Given the description of an element on the screen output the (x, y) to click on. 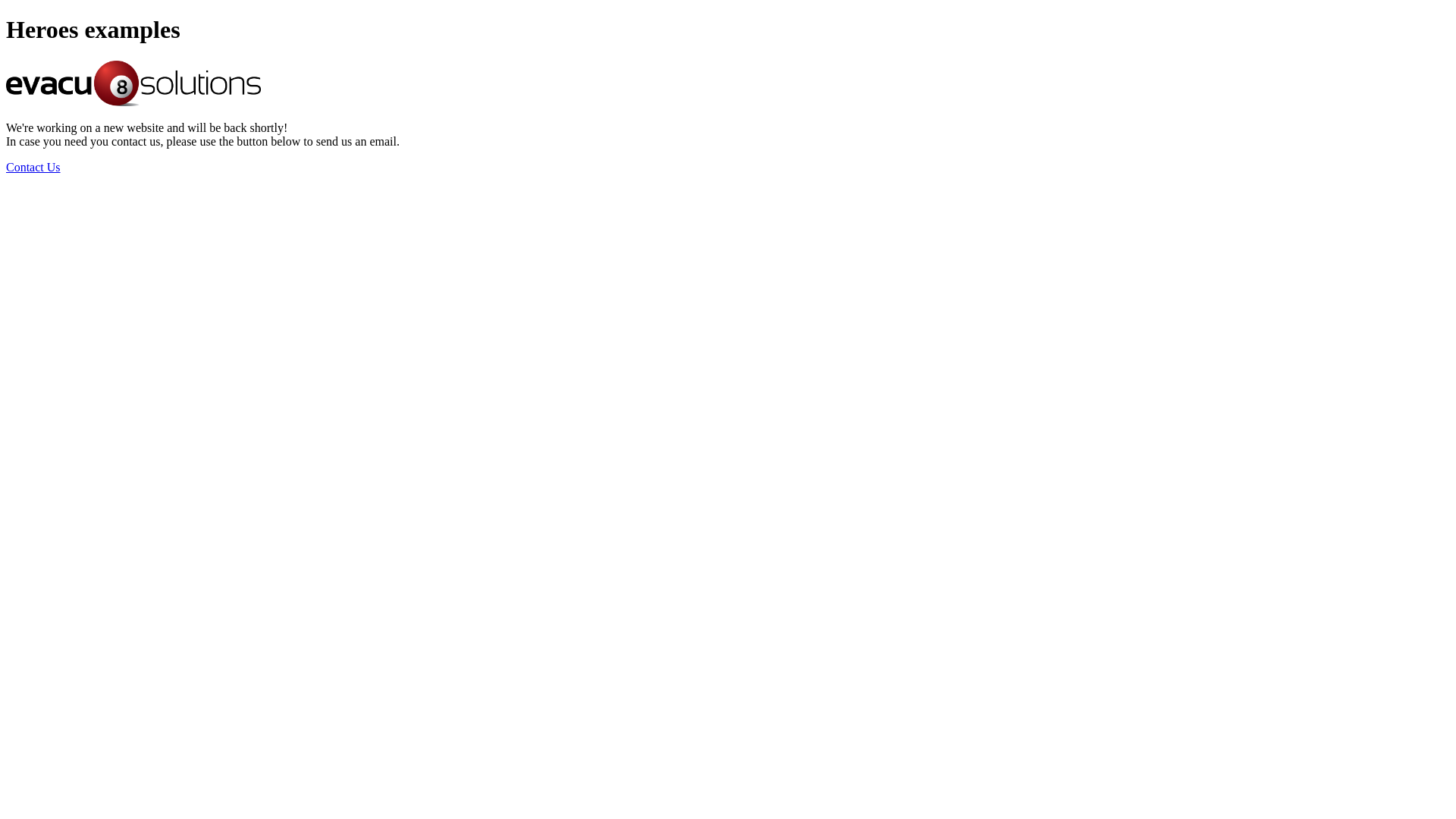
Contact Us Element type: text (33, 166)
